Given the description of an element on the screen output the (x, y) to click on. 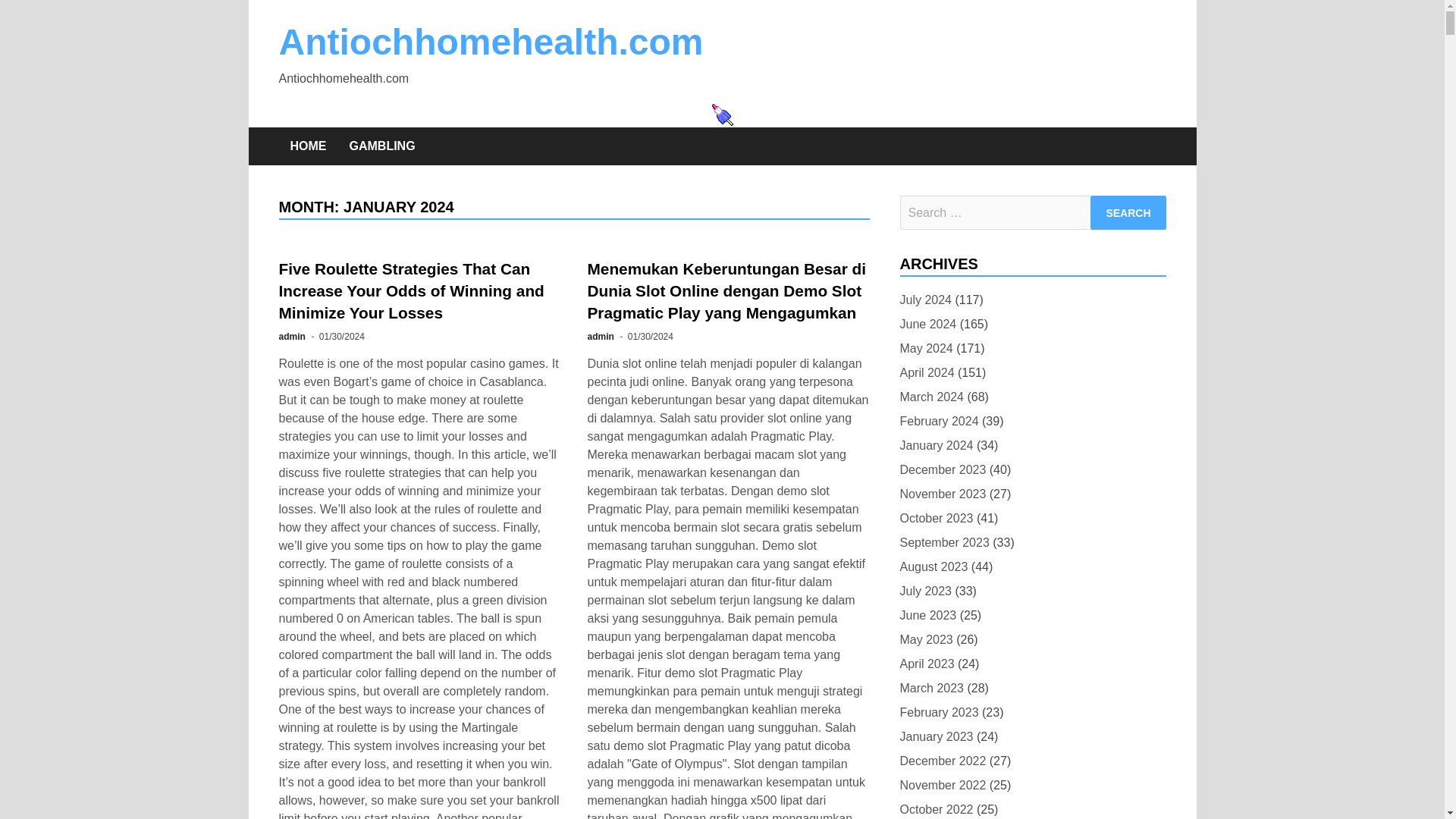
Search (1128, 212)
admin (599, 336)
Search (1128, 212)
admin (292, 336)
Antiochhomehealth.com (491, 42)
HOME (308, 146)
GAMBLING (381, 146)
